Given the description of an element on the screen output the (x, y) to click on. 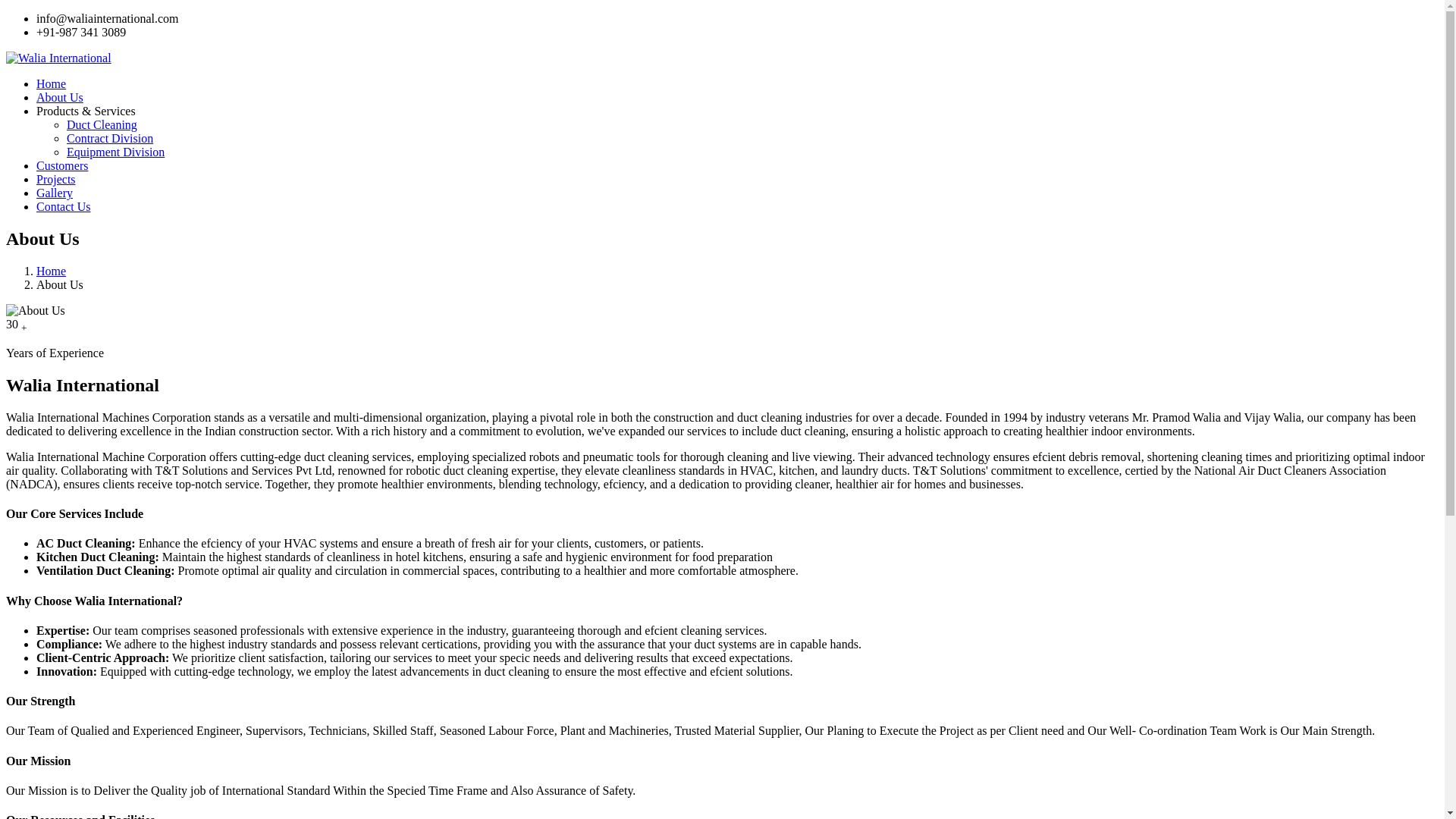
Duct Cleaning (101, 124)
Home (50, 83)
Contract Division (109, 137)
Contact Us (63, 205)
About Us (59, 97)
Projects (55, 178)
Gallery (54, 192)
Home (50, 270)
Customers (61, 164)
Equipment Division (115, 151)
